Given the description of an element on the screen output the (x, y) to click on. 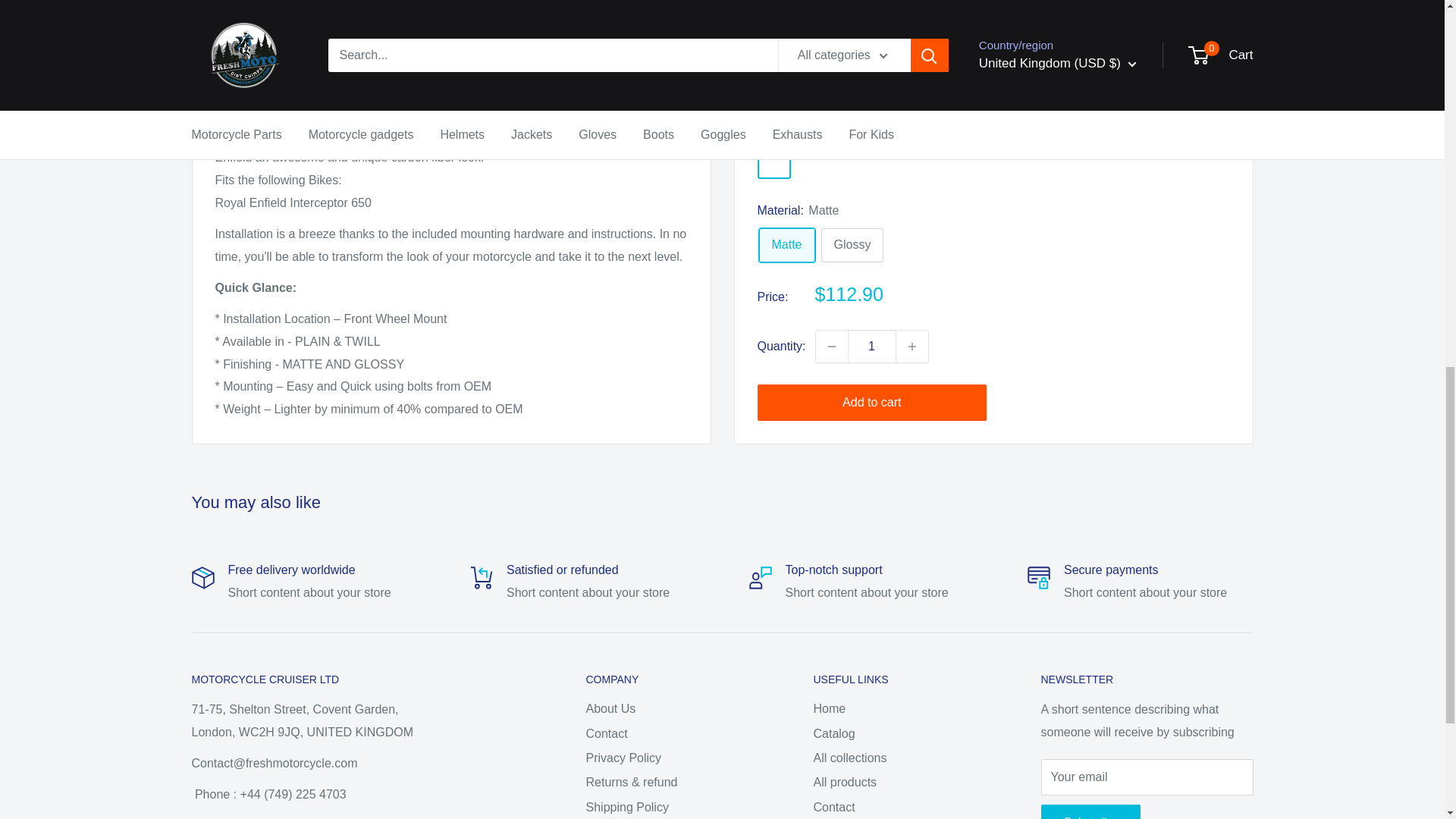
1 (871, 8)
Increase quantity by 1 (912, 8)
Decrease quantity by 1 (831, 8)
